Given the description of an element on the screen output the (x, y) to click on. 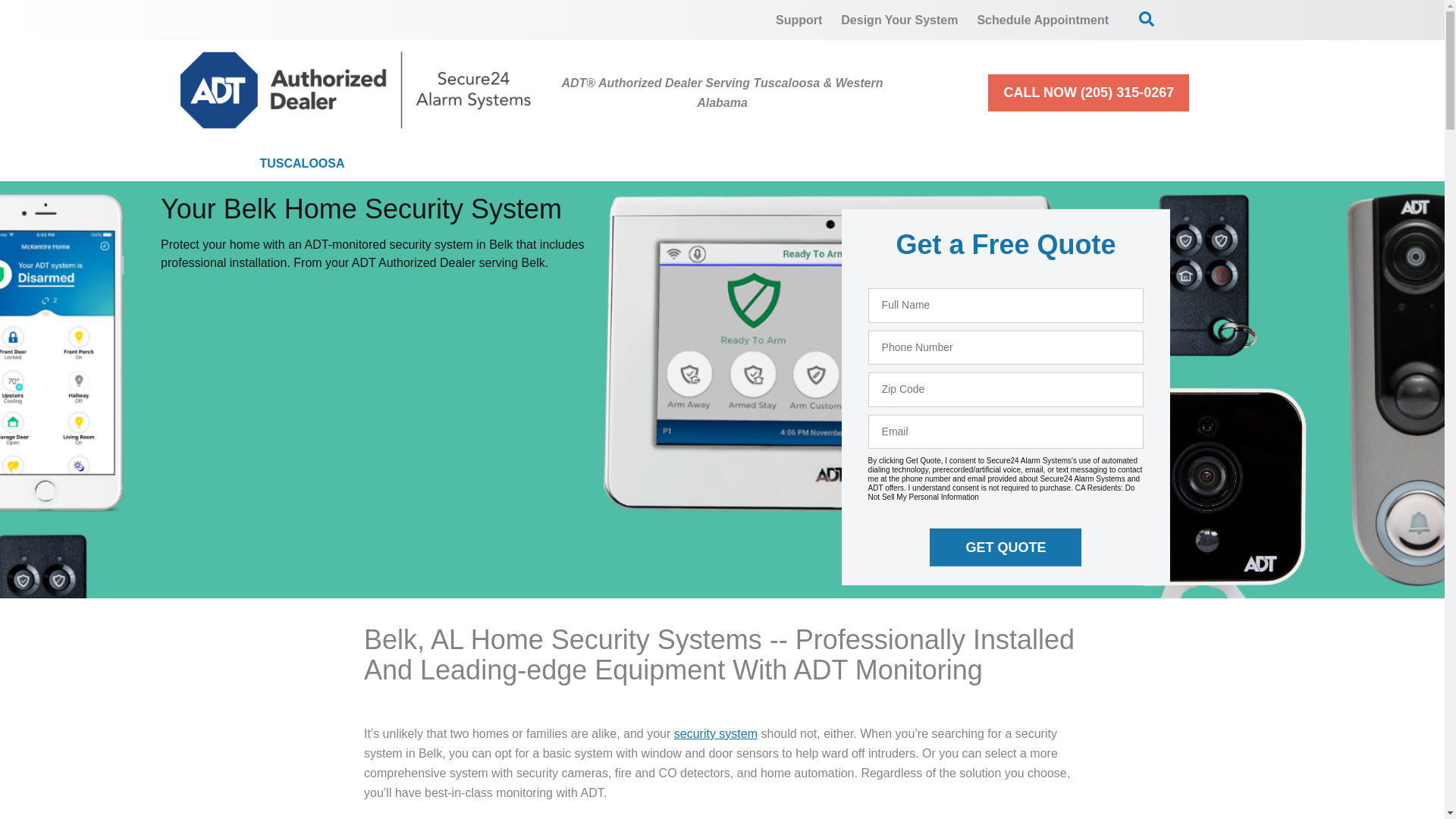
Secure24 Alarm Systems Home (355, 89)
Home Automation (759, 163)
GET QUOTE (1005, 547)
Cameras (604, 163)
Schedule Appointment (1042, 20)
Open Search (1146, 18)
Support (798, 20)
Home Security (457, 163)
Design Your System (898, 20)
